Given the description of an element on the screen output the (x, y) to click on. 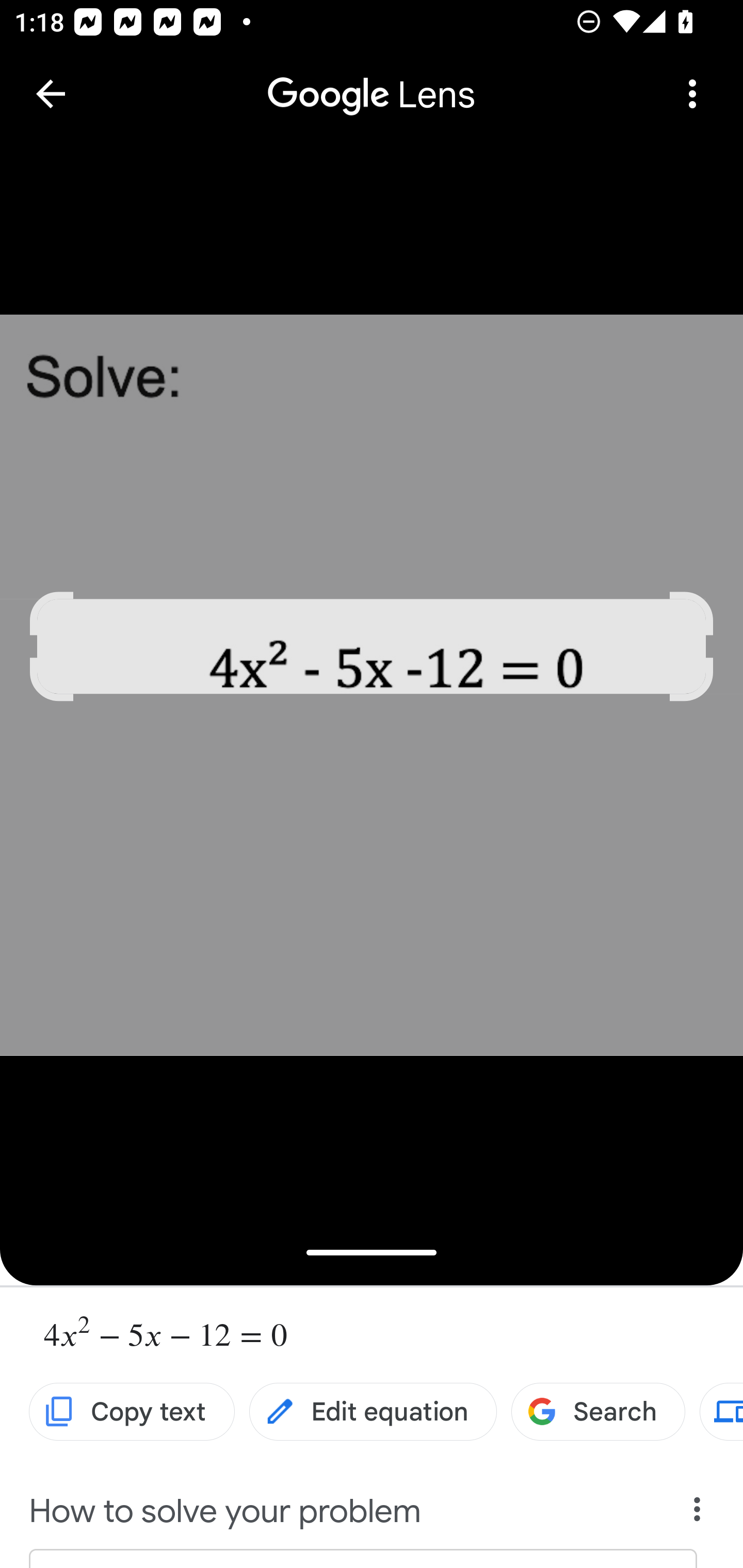
Google Lens Lens (371, 80)
Go back (50, 94)
More options (692, 94)
Copy text (131, 1411)
Edit equation (372, 1411)
Search (598, 1411)
